Given the description of an element on the screen output the (x, y) to click on. 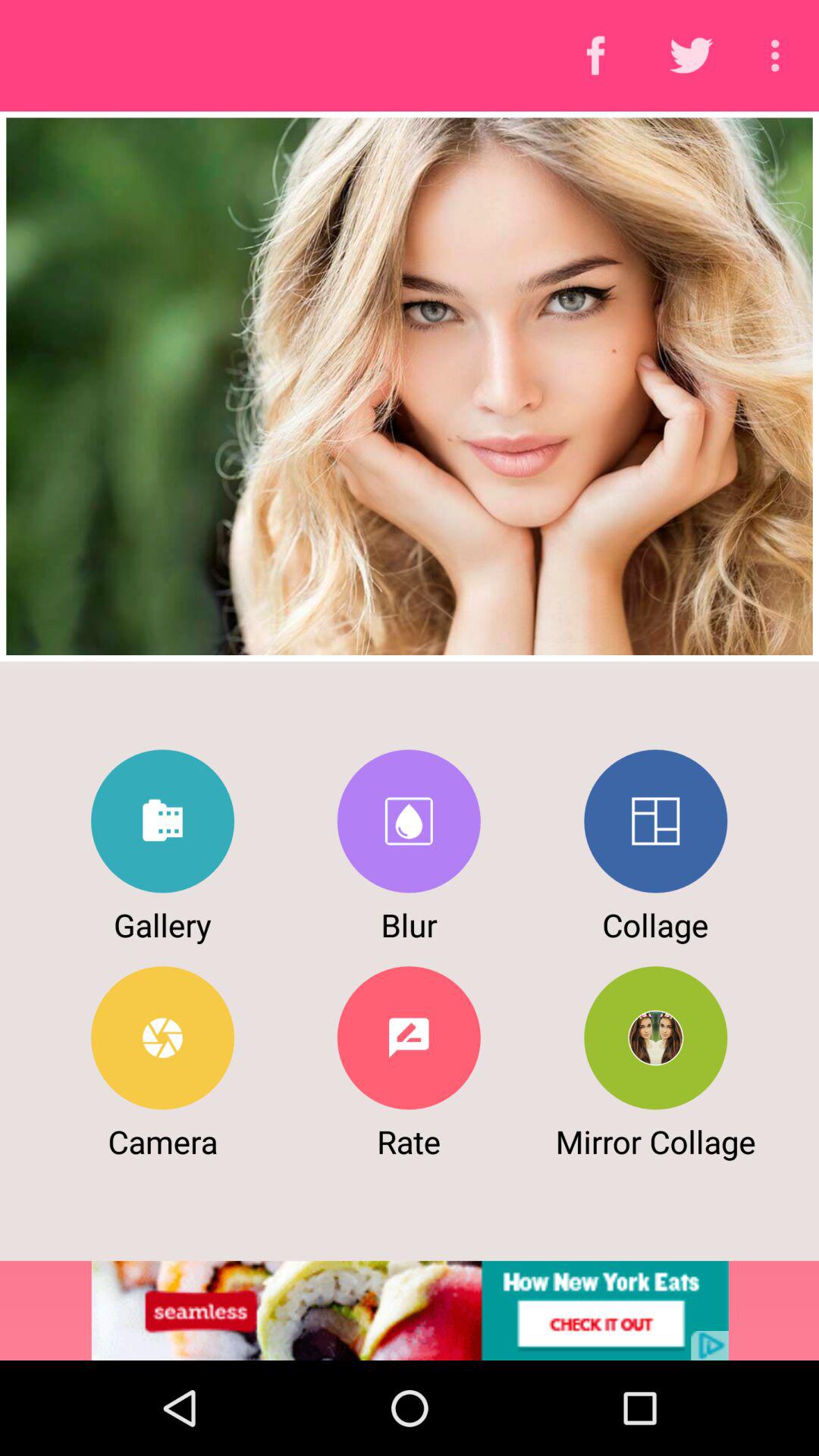
mirror collage button (655, 1037)
